Given the description of an element on the screen output the (x, y) to click on. 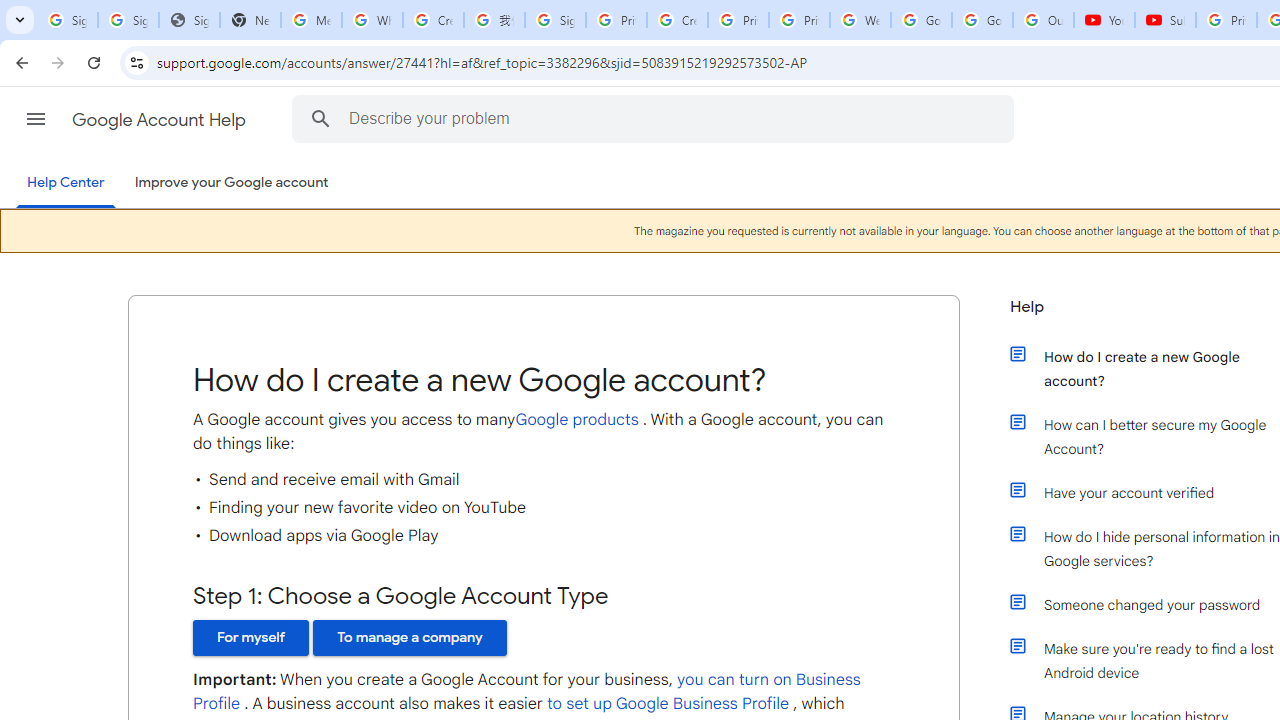
Who is my administrator? - Google Account Help (372, 20)
Google Account Help (160, 119)
Google products (576, 419)
To manage a company (409, 637)
Sign in - Google Accounts (555, 20)
YouTube (1104, 20)
to set up Google Business Profile (667, 704)
Subscriptions - YouTube (1165, 20)
you can turn on Business Profile (527, 692)
